Given the description of an element on the screen output the (x, y) to click on. 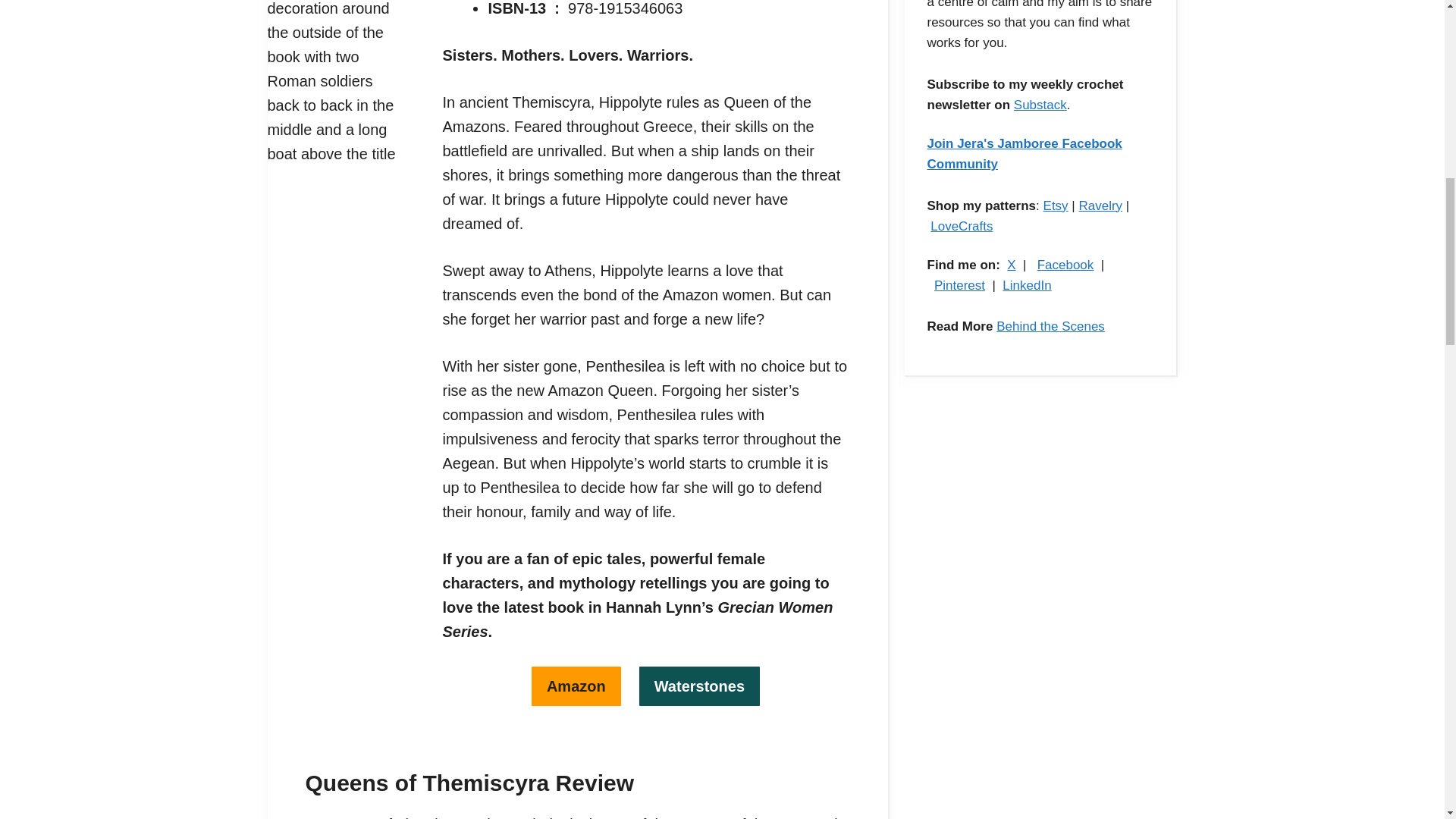
Substack (1040, 104)
Behind the Scenes (1050, 326)
LinkedIn (1027, 285)
Ravelry (1100, 205)
Join Jera's Jamboree Facebook Community (1023, 153)
Waterstones (699, 685)
Facebook (1065, 264)
Pinterest (959, 285)
Amazon (576, 685)
LoveCrafts (961, 226)
